Given the description of an element on the screen output the (x, y) to click on. 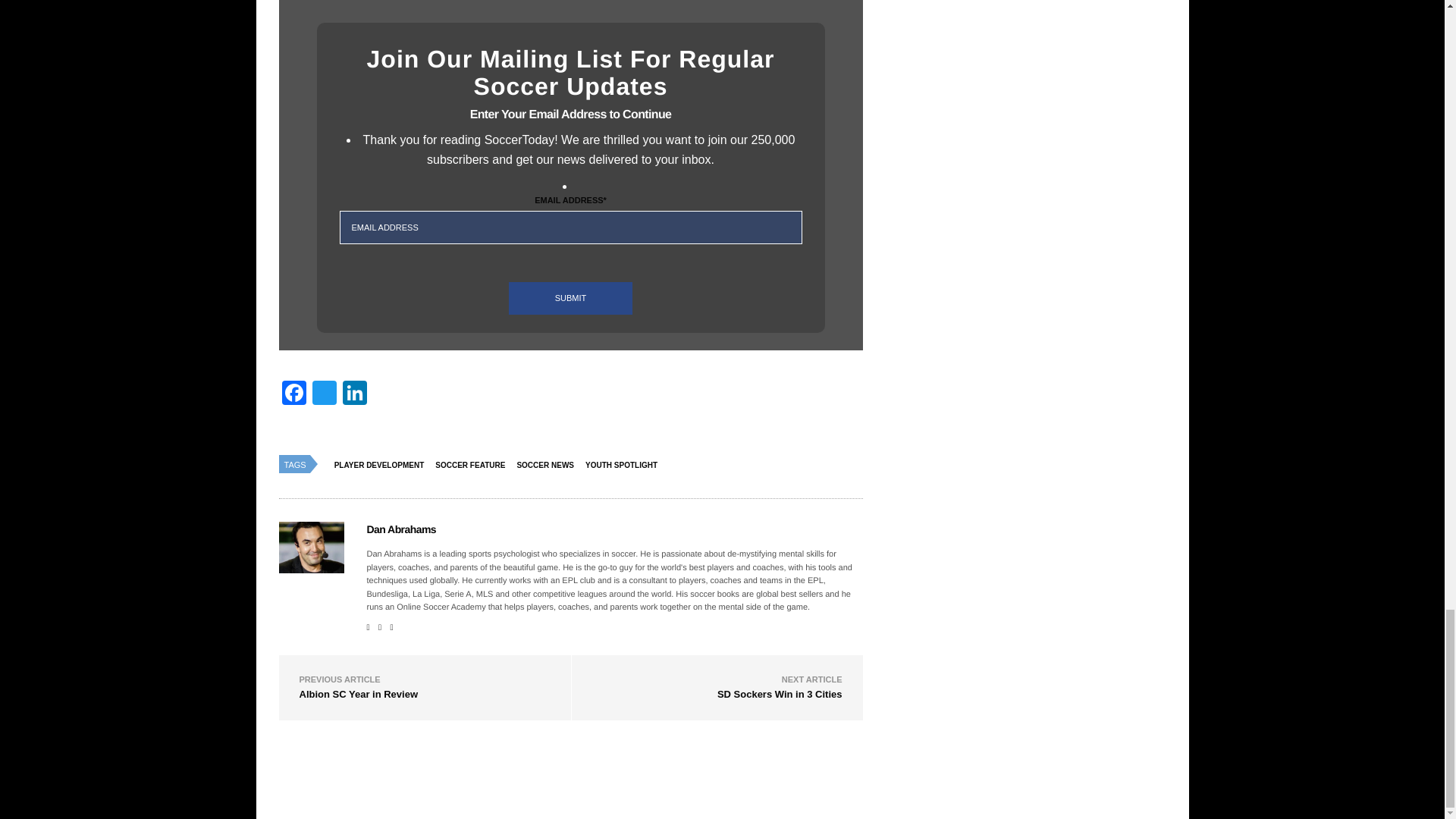
Facebook (293, 394)
Twitter (323, 394)
SD Sockers Win in 3 Cities  (780, 694)
Albion SC Year in Review (357, 694)
LinkedIn (354, 394)
Submit (570, 297)
